Given the description of an element on the screen output the (x, y) to click on. 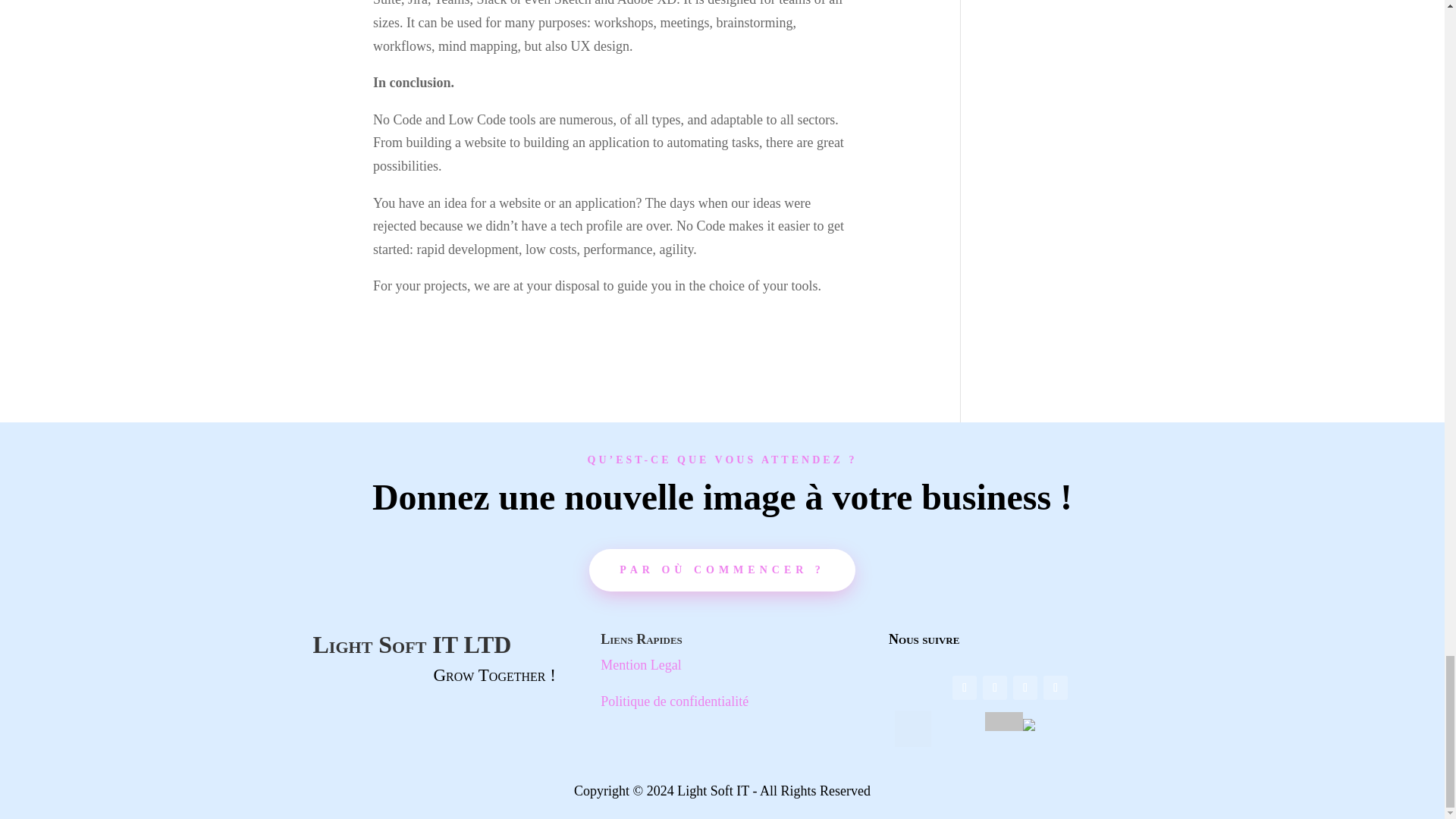
Suivez sur X (994, 687)
Suivez sur LinkedIn (1055, 687)
Suivez sur Facebook (964, 687)
Suivez sur Instagram (1024, 687)
DIVI Member (913, 728)
Mention Legal (640, 664)
